Given the description of an element on the screen output the (x, y) to click on. 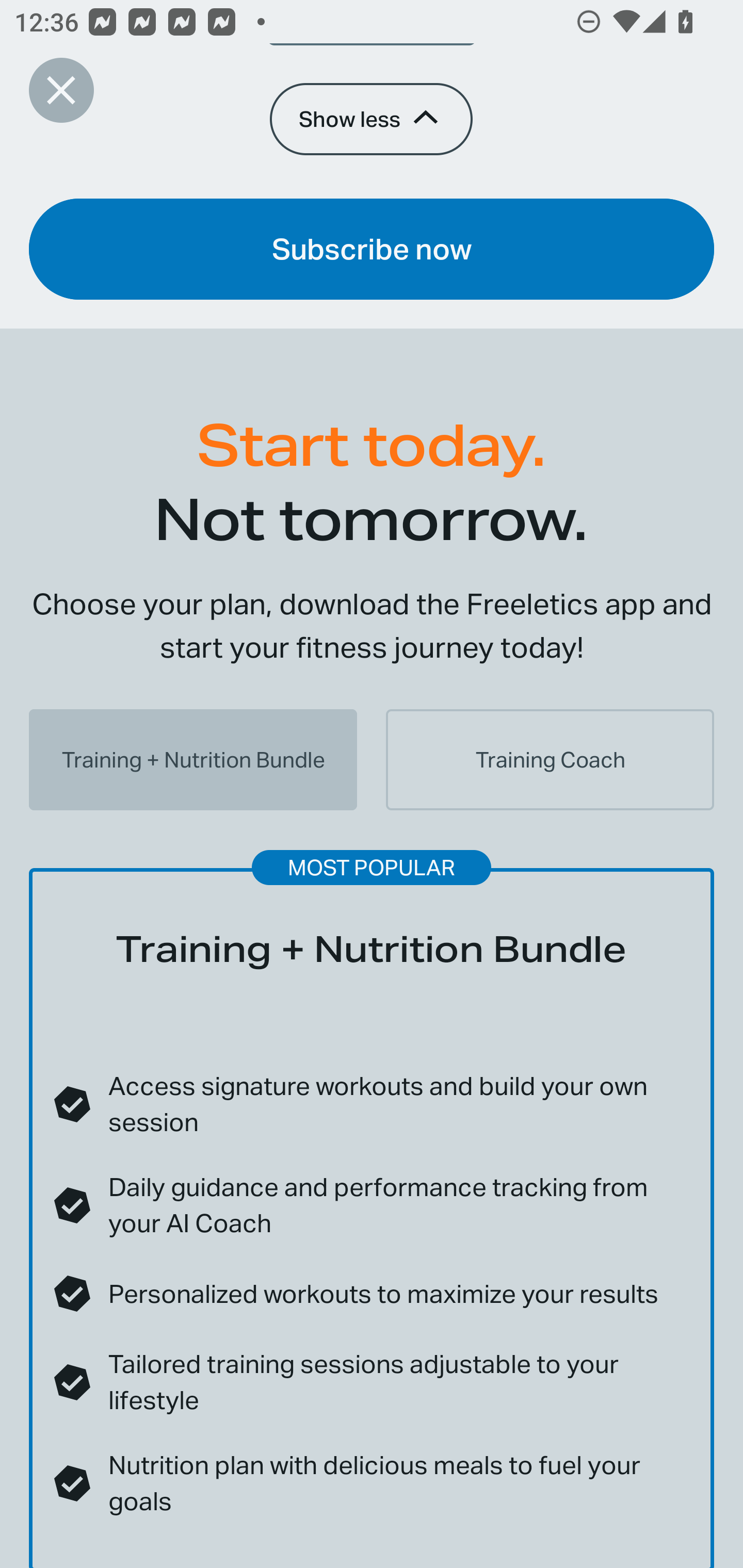
Close (60, 90)
Show less (370, 119)
Subscribe now (371, 249)
Training + Nutrition Bundle (192, 759)
Training Coach (549, 759)
